Given the description of an element on the screen output the (x, y) to click on. 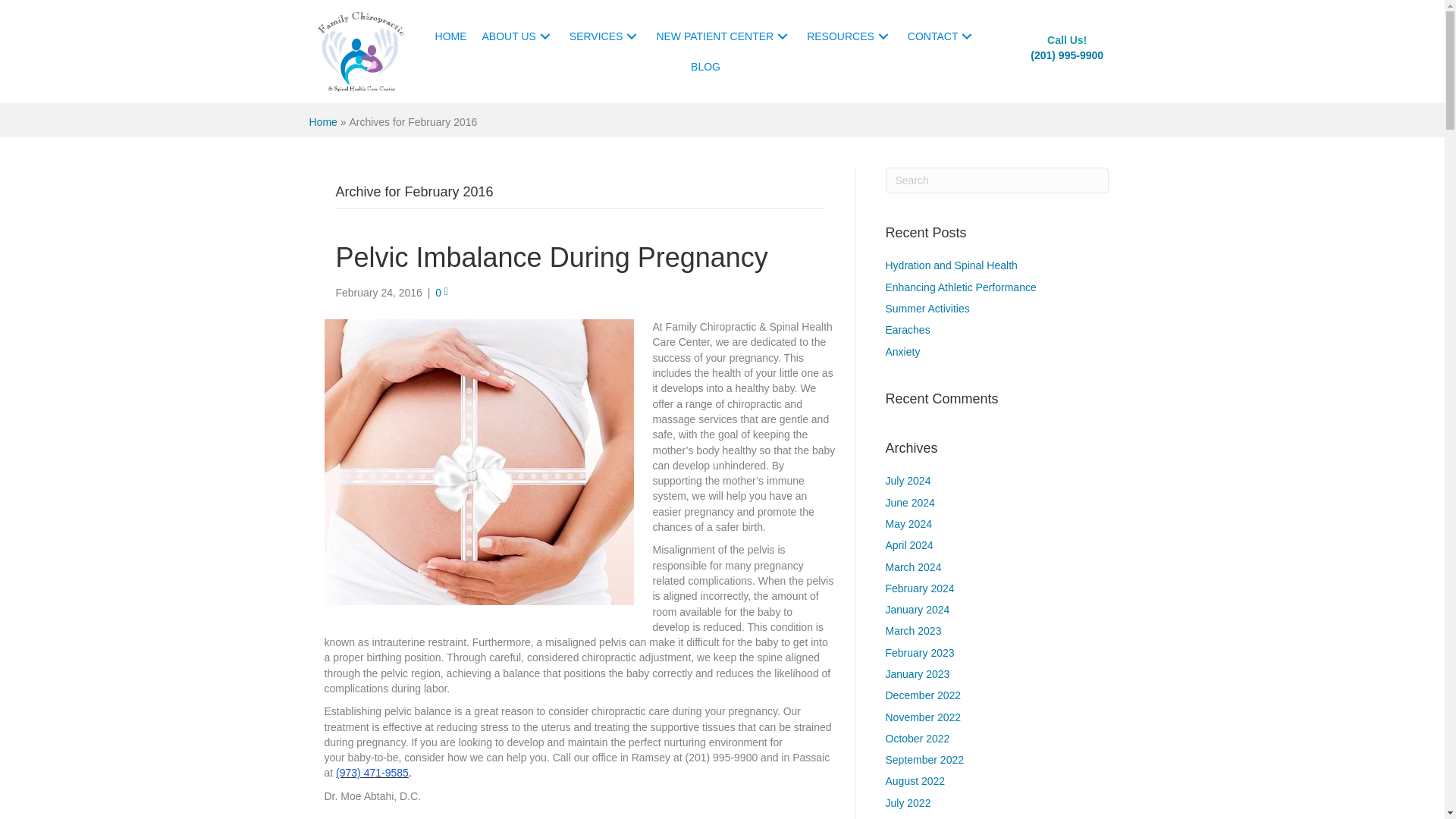
0 (441, 292)
NEW PATIENT CENTER (723, 36)
Pelvic Imbalance During Pregnancy (550, 256)
SERVICES (605, 36)
HOME (451, 36)
BLOG (705, 66)
CONTACT (941, 36)
Type and press Enter to search. (997, 180)
Home (322, 121)
Family ChiropracticNJ logo (361, 51)
Pelvic Imbalance During Pregnancy (550, 256)
RESOURCES (849, 36)
ABOUT US (518, 36)
Pelvic Imbalance During Pregnancy (478, 460)
